Given the description of an element on the screen output the (x, y) to click on. 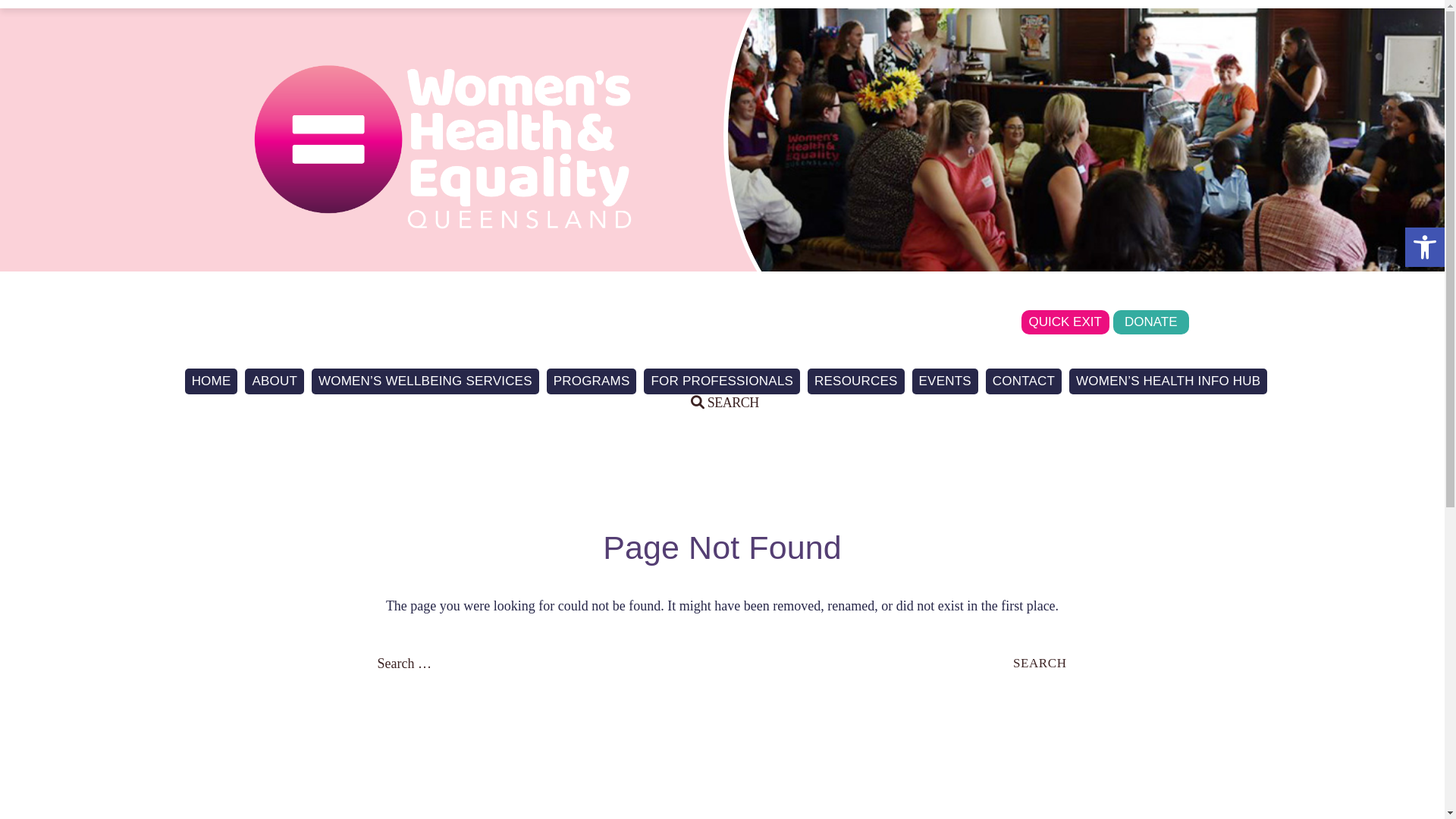
EVENTS Element type: text (945, 381)
DONATE Element type: text (1151, 322)
ABOUT Element type: text (274, 381)
CONTACT Element type: text (1023, 381)
Open toolbar Element type: text (1424, 246)
QUICK EXIT Element type: text (1065, 322)
RESOURCES Element type: text (855, 381)
PROGRAMS Element type: text (591, 381)
Search Element type: text (34, 12)
HOME Element type: text (211, 381)
SEARCH Element type: text (724, 402)
Search Element type: text (1039, 662)
FOR PROFESSIONALS Element type: text (721, 381)
